Given the description of an element on the screen output the (x, y) to click on. 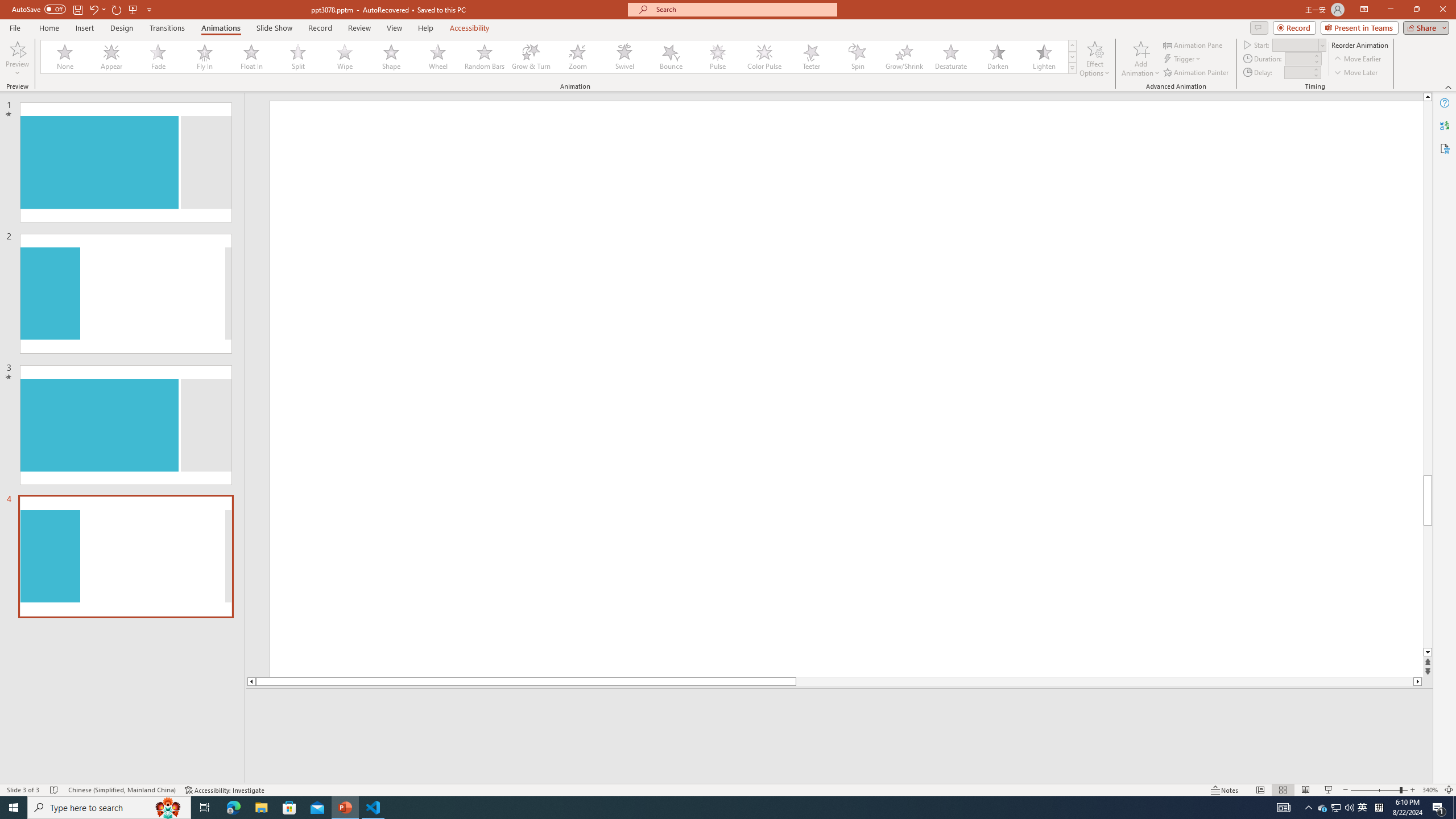
Preview (17, 58)
Teeter (810, 56)
Split (298, 56)
Zoom In (1412, 790)
System (6, 6)
Redo (117, 9)
Trigger (1182, 58)
Animations (220, 28)
Animation Pane (1193, 44)
Zoom to Fit  (1449, 790)
Color Pulse (764, 56)
Comments (1259, 27)
Collapse the Ribbon (1448, 86)
Record (320, 28)
Ribbon Display Options (1364, 9)
